Given the description of an element on the screen output the (x, y) to click on. 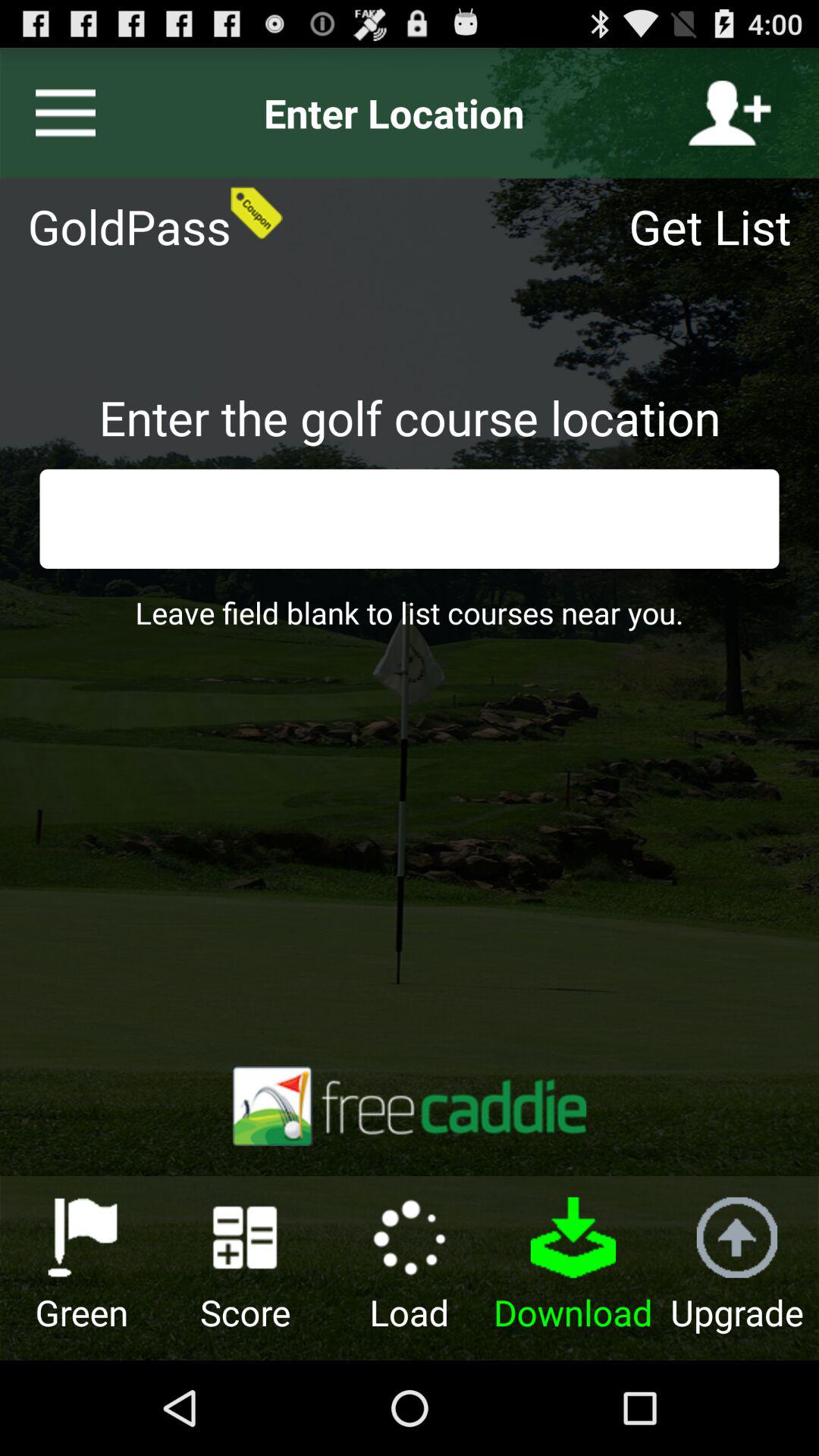
search golf courses (409, 518)
